Given the description of an element on the screen output the (x, y) to click on. 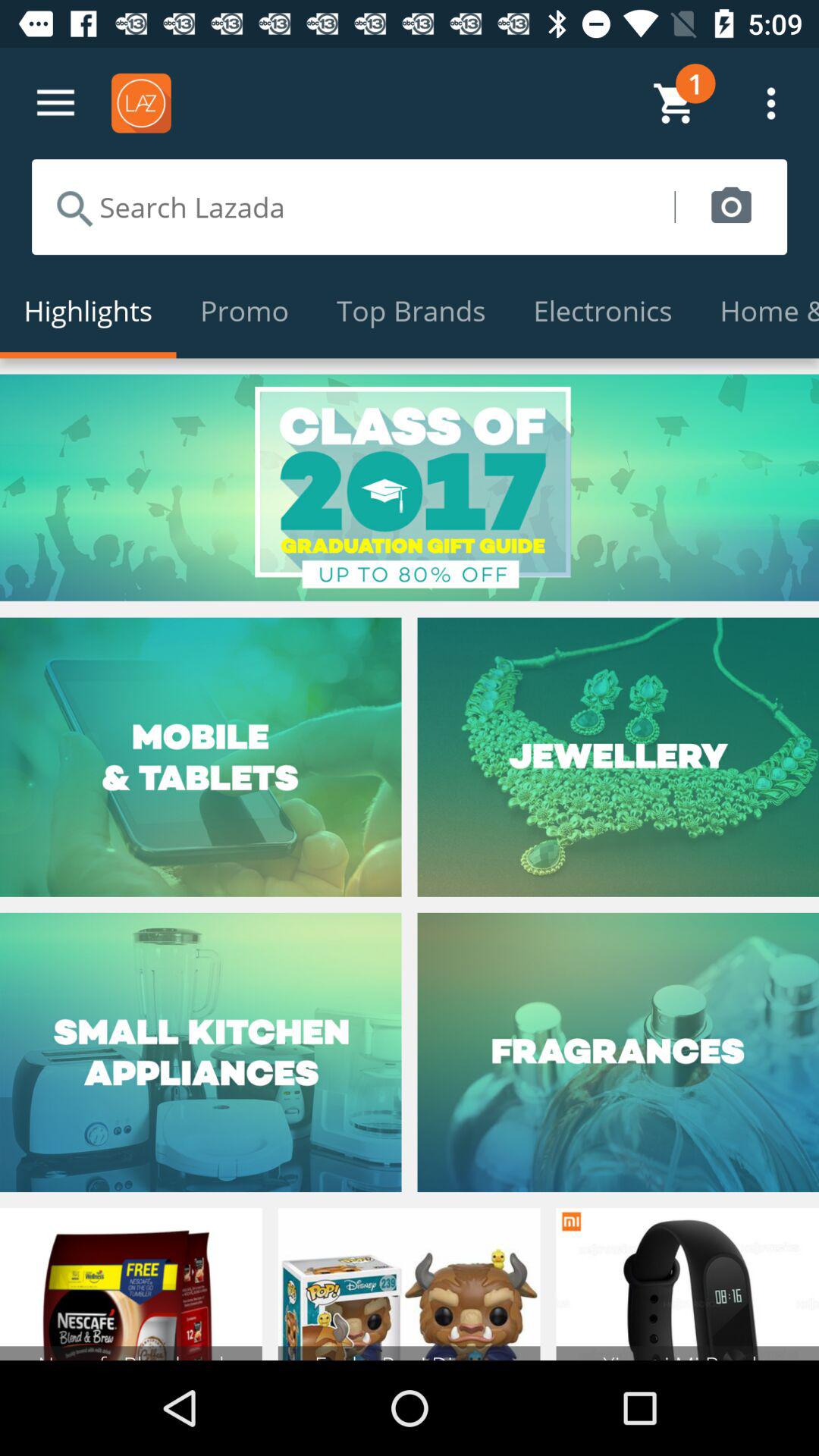
go to the class of 2017 page (409, 487)
